Given the description of an element on the screen output the (x, y) to click on. 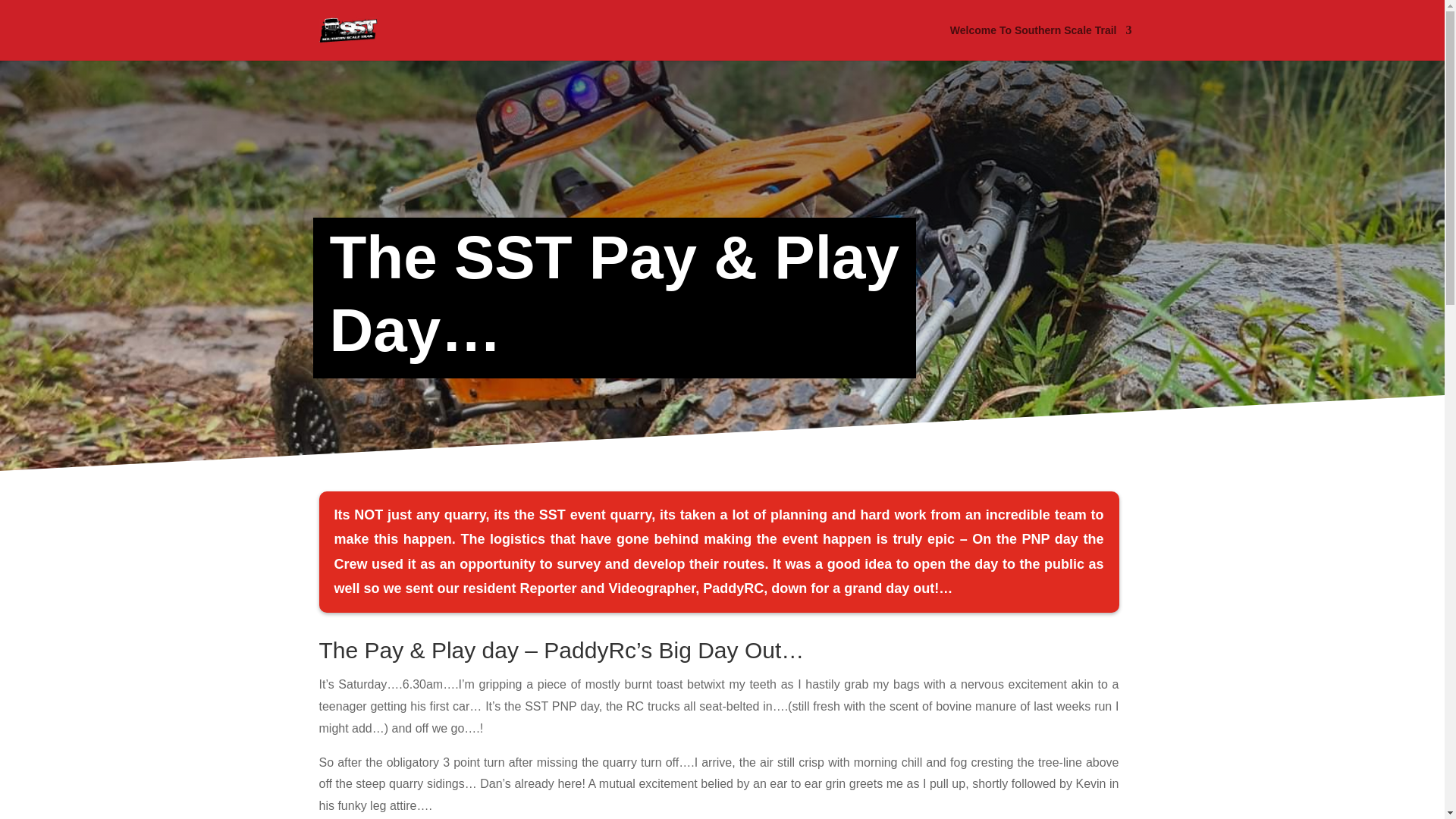
Welcome To Southern Scale Trail (1041, 42)
